Given the description of an element on the screen output the (x, y) to click on. 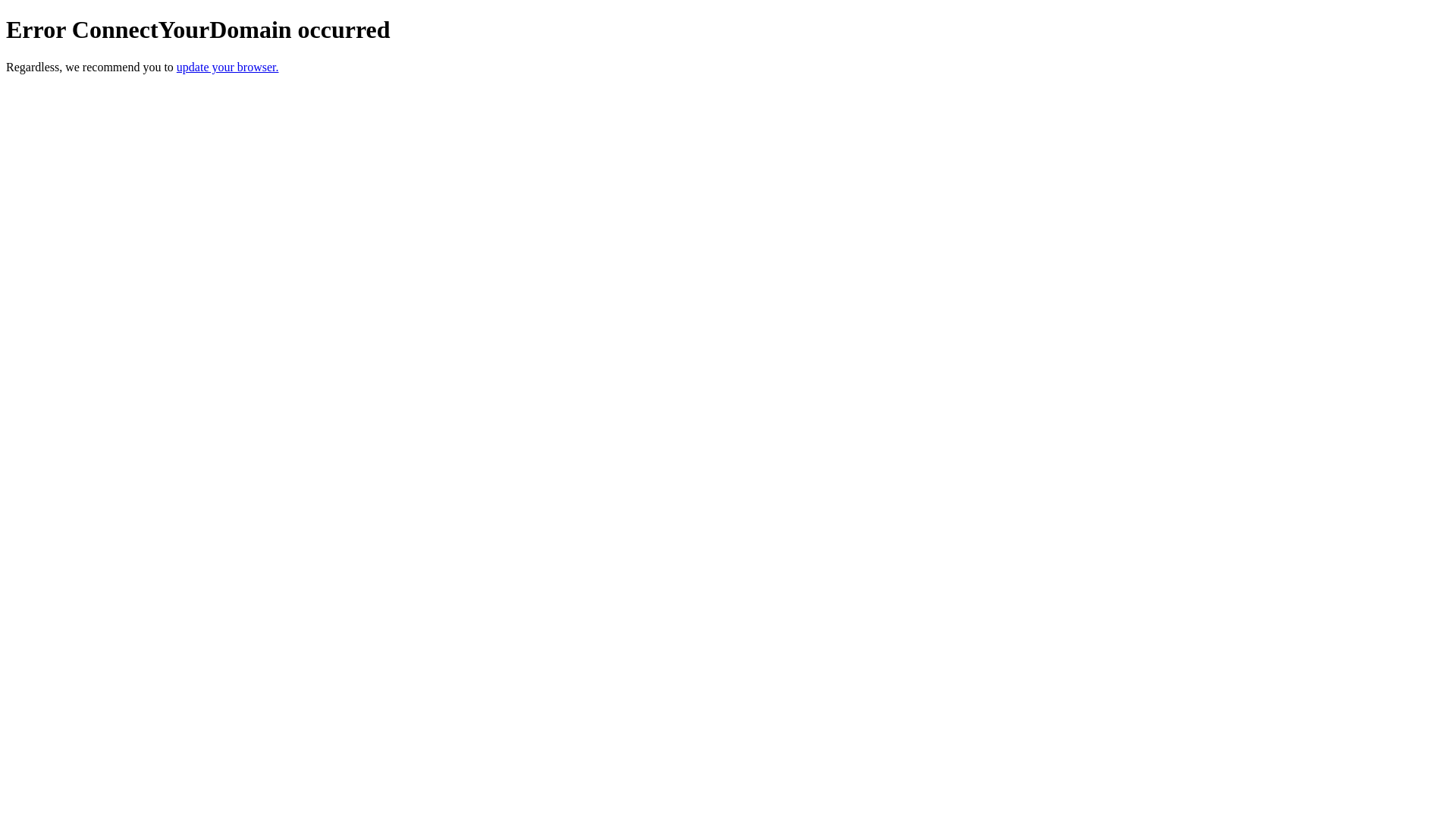
update your browser. Element type: text (227, 66)
